Given the description of an element on the screen output the (x, y) to click on. 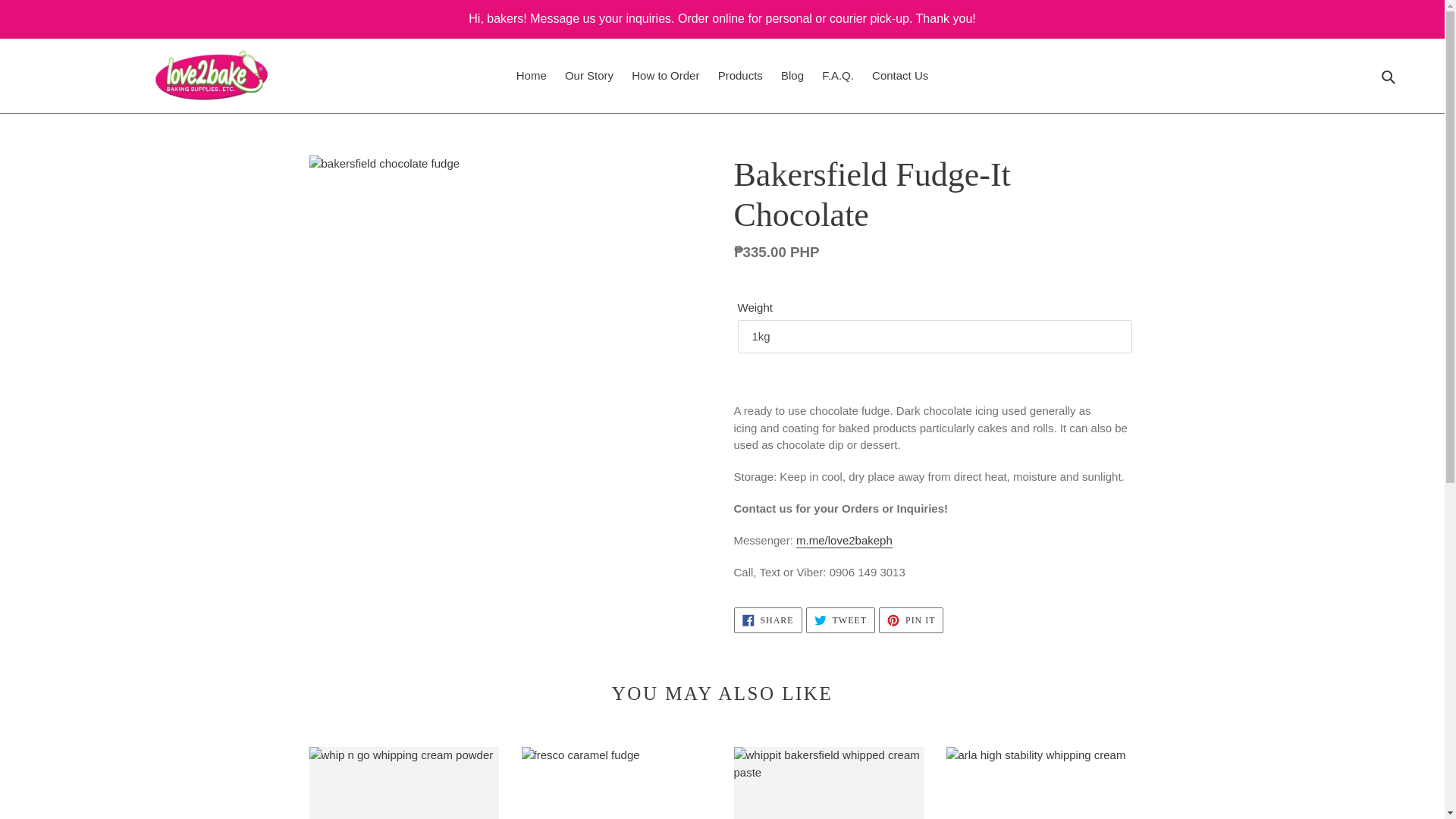
Fresco Caramel Fudge (616, 782)
Search (1389, 75)
Bakersfield Whippit Non-Dairy Whipping Cream Paste (828, 782)
Arla High Stability Whipping Cream (1040, 782)
Home (531, 75)
F.A.Q. (837, 75)
Blog (791, 75)
Whip N Go Whipping Cream Powder (403, 782)
Products (740, 75)
